Given the description of an element on the screen output the (x, y) to click on. 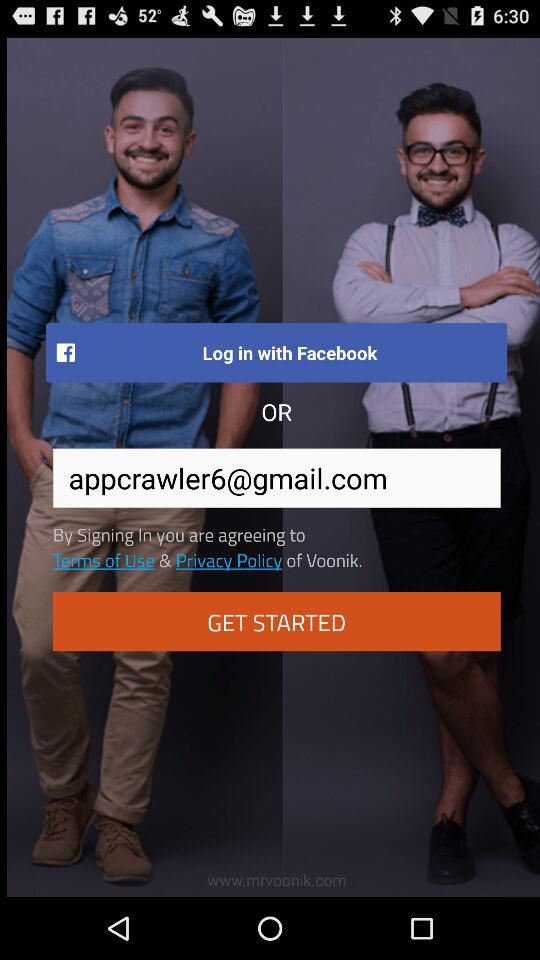
scroll to the privacy policy (228, 559)
